Given the description of an element on the screen output the (x, y) to click on. 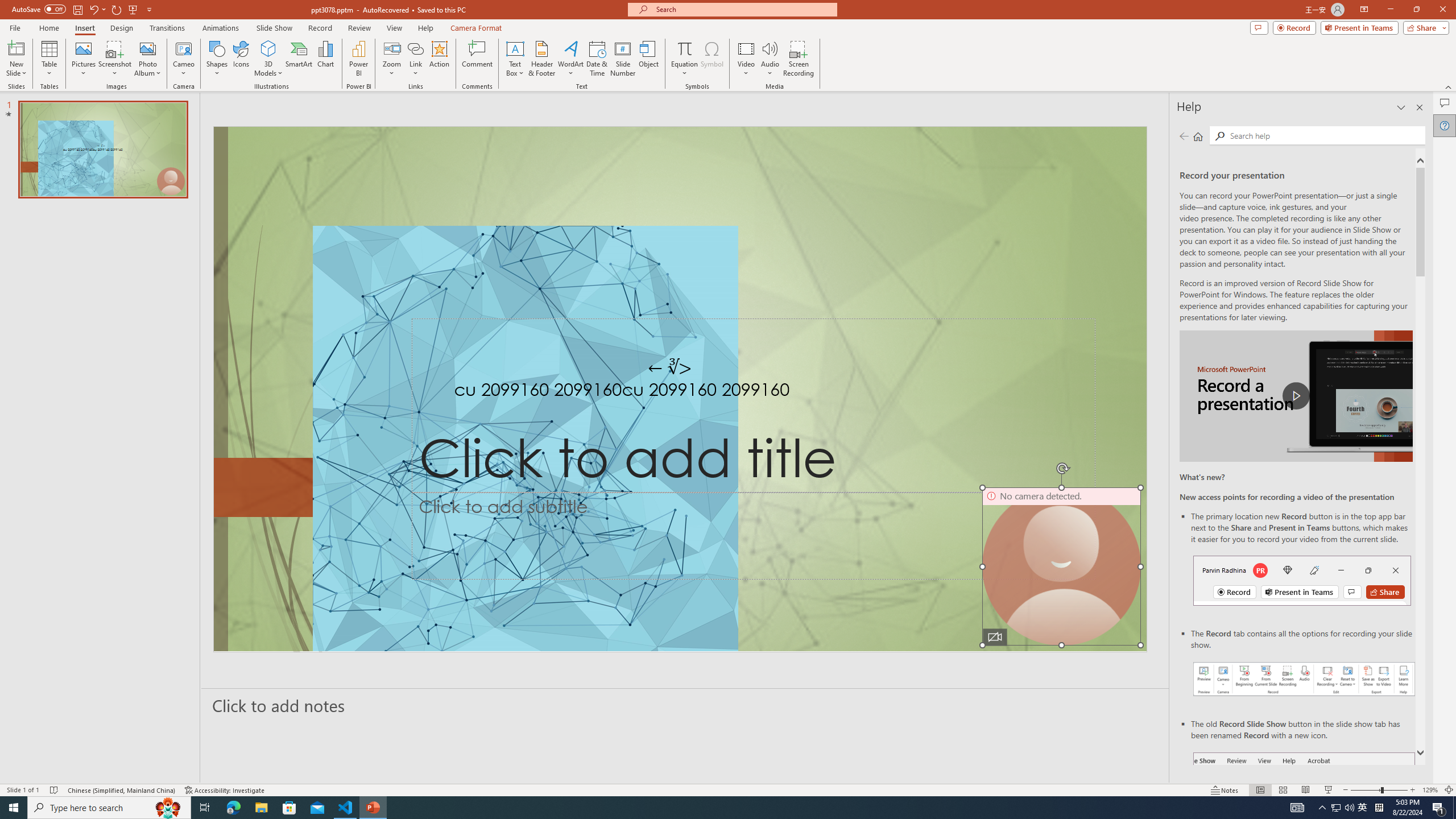
Title TextBox (753, 405)
Photo Album... (147, 58)
Pictures (83, 58)
Symbol... (711, 58)
Link (415, 58)
